Given the description of an element on the screen output the (x, y) to click on. 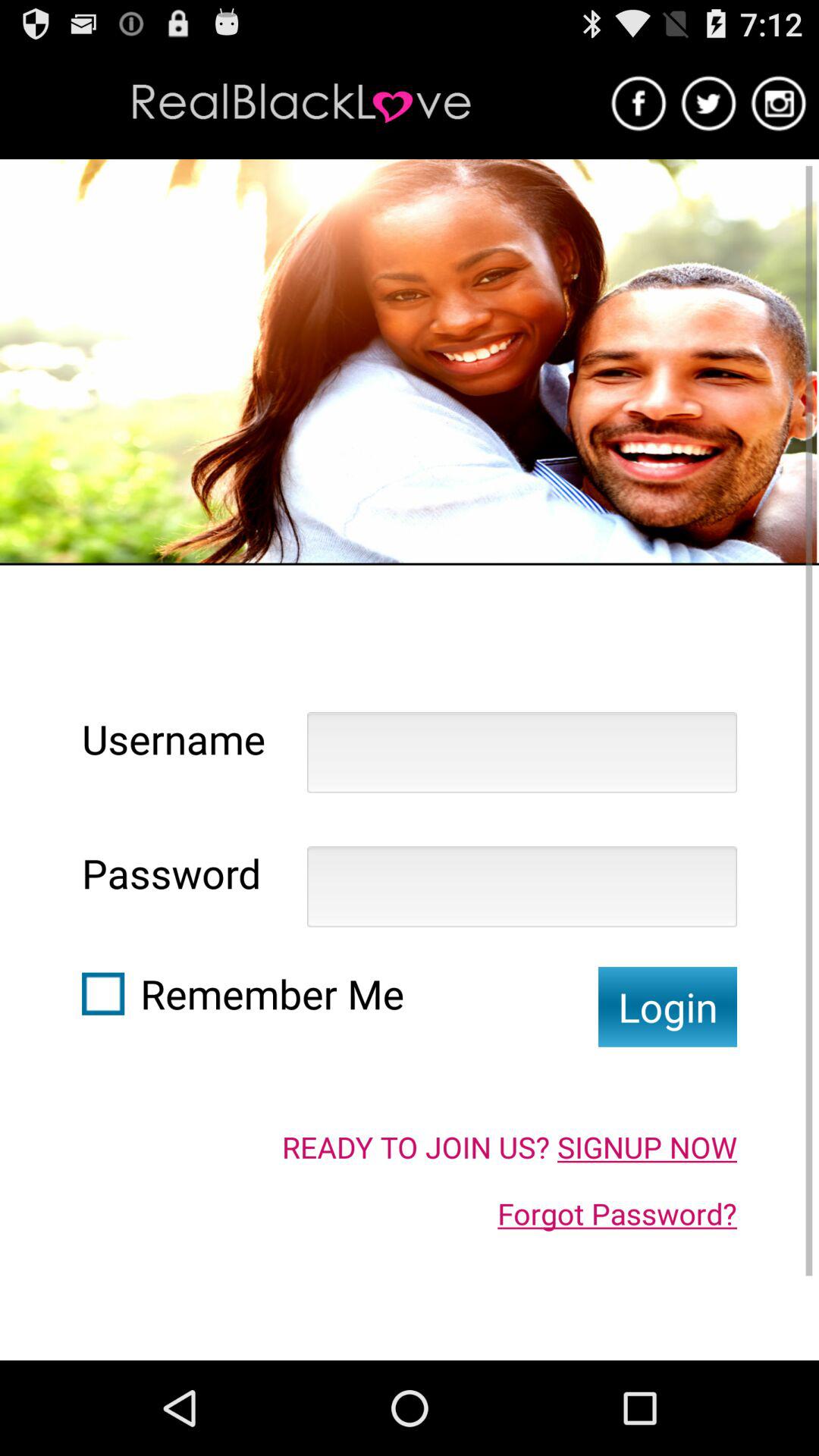
launch item below the password (102, 993)
